Given the description of an element on the screen output the (x, y) to click on. 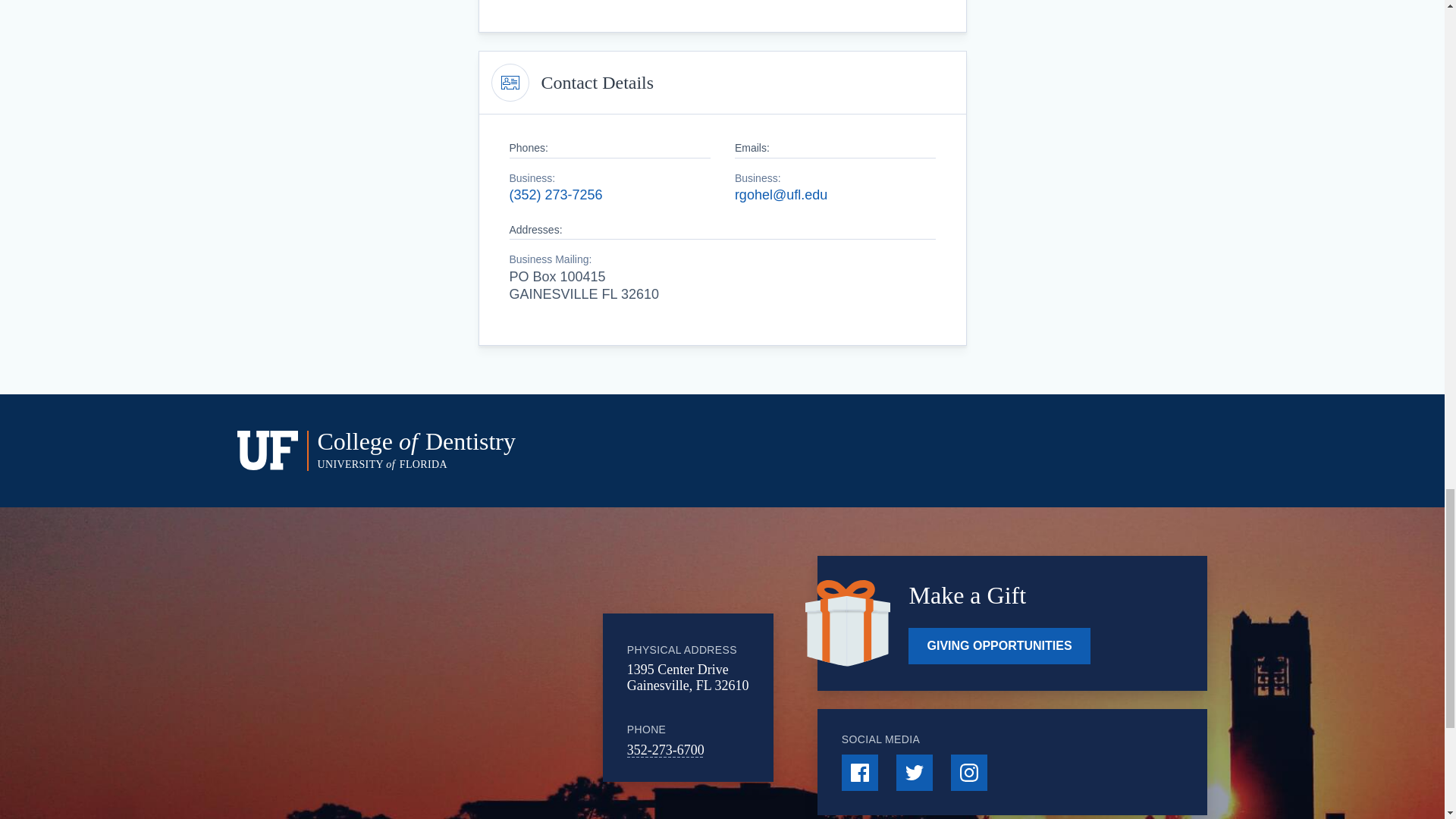
352-273-6700 (665, 749)
Google Maps Embed (478, 690)
